Given the description of an element on the screen output the (x, y) to click on. 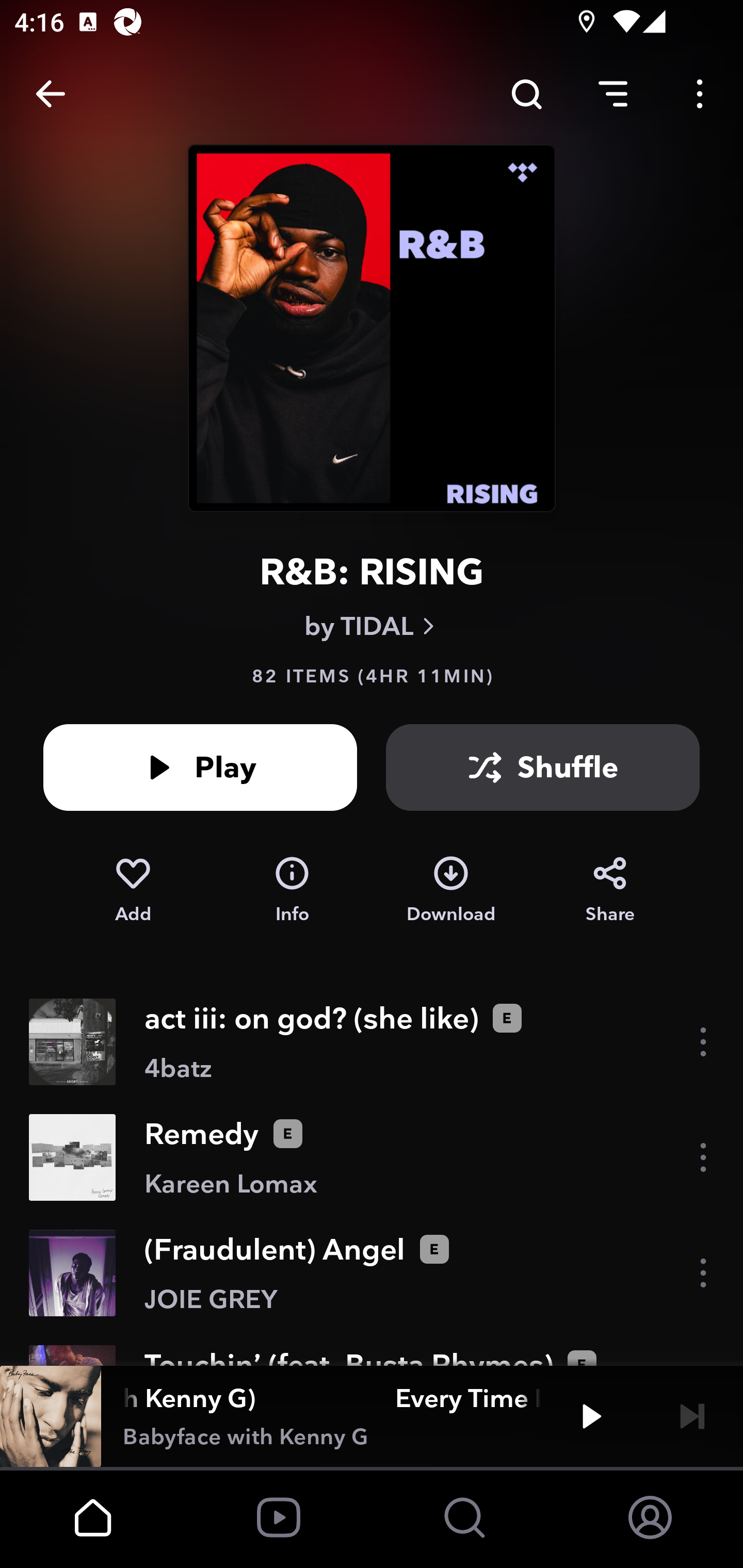
Back (50, 93)
Search (525, 93)
Sorting (612, 93)
Options (699, 93)
by TIDAL (371, 625)
Play (200, 767)
Shuffle (542, 767)
Add (132, 890)
Info (291, 890)
Download (450, 890)
Share (609, 890)
act iii: on god? (she like) 4batz (371, 1041)
Remedy Kareen Lomax (371, 1157)
(Fraudulent) Angel JOIE GREY (371, 1273)
Play (590, 1416)
